Given the description of an element on the screen output the (x, y) to click on. 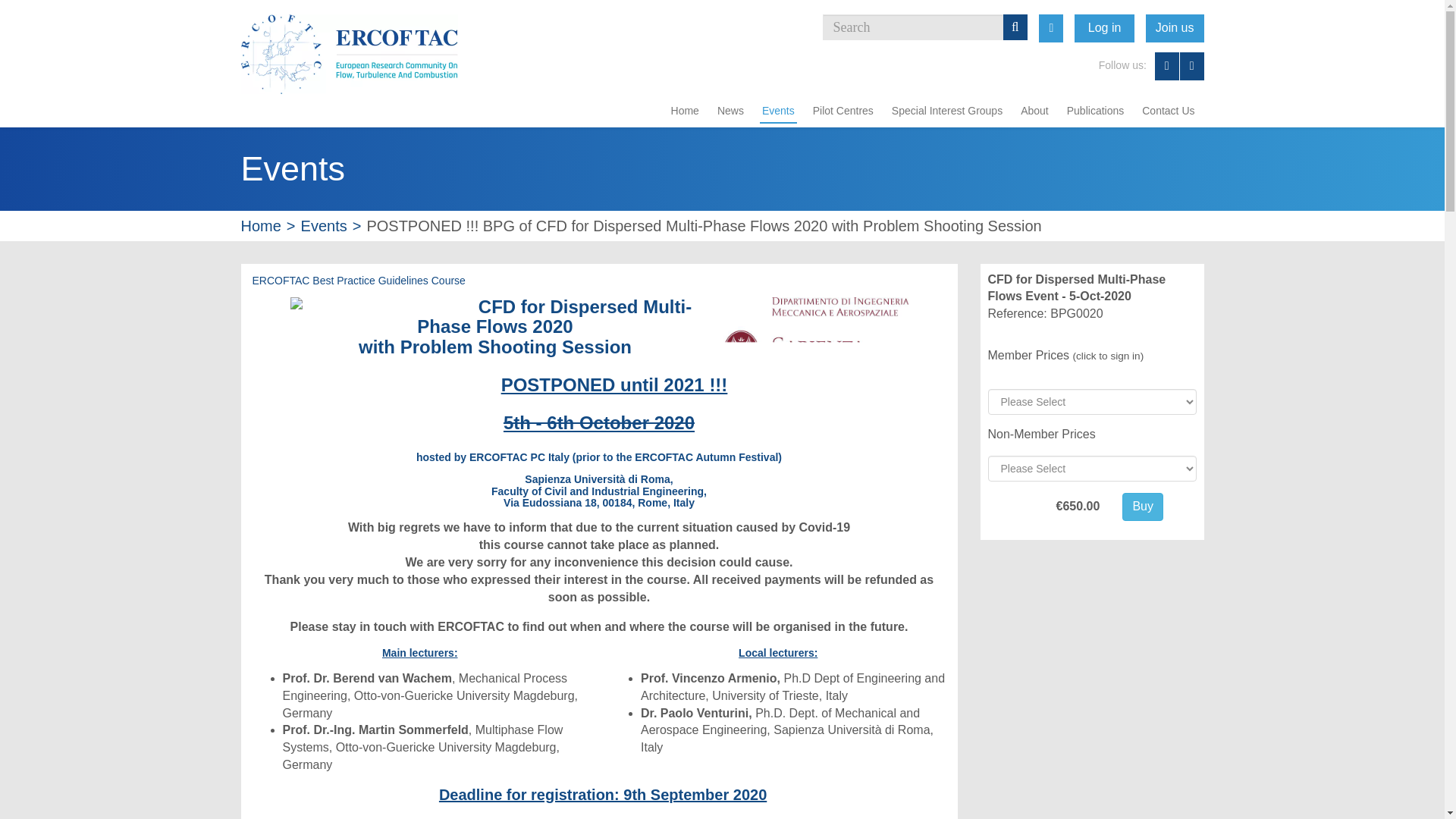
About (1034, 110)
Contact Us (1168, 110)
Buy (1142, 506)
Special Interest Groups (946, 110)
Home (261, 225)
Events (324, 225)
ERCOFTAC PC Italy (518, 457)
ERCOFTAC Autumn Festival (705, 457)
Publications (1095, 110)
